Given the description of an element on the screen output the (x, y) to click on. 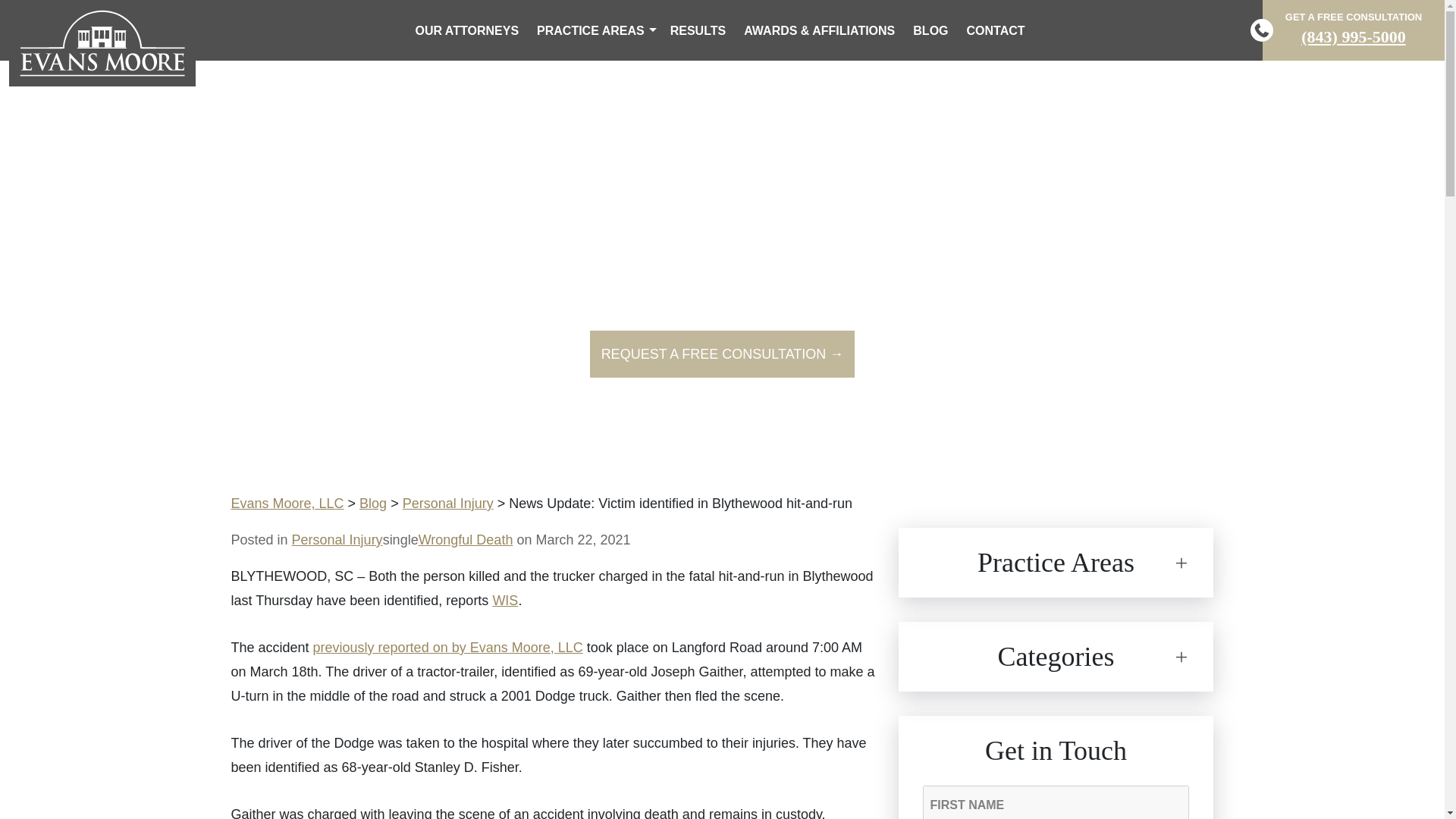
Blog (373, 503)
Go to Blog. (373, 503)
Personal Injury (448, 503)
Wrongful Death (466, 539)
previously reported on by Evans Moore, LLC (448, 647)
OUR ATTORNEYS (466, 29)
Personal Injury (337, 539)
Go to Evans Moore, LLC. (286, 503)
Evans Moore, LLC (286, 503)
BLOG (930, 29)
CONTACT (995, 29)
Go to the Personal Injury Category archives. (448, 503)
WIS (505, 600)
PRACTICE AREAS (594, 29)
RESULTS (698, 29)
